Given the description of an element on the screen output the (x, y) to click on. 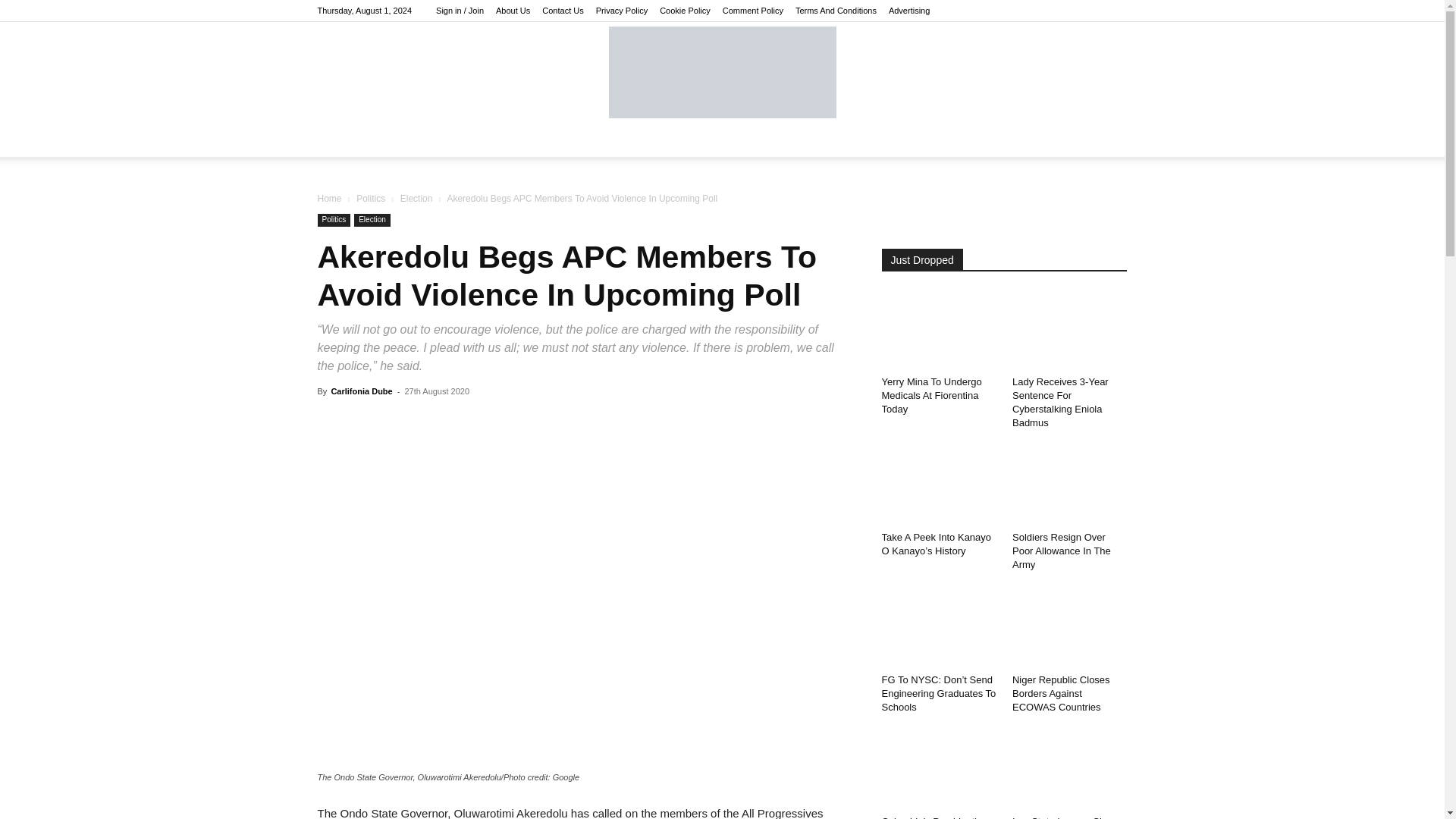
View all posts in Politics (370, 198)
View all posts in Election (416, 198)
